Given the description of an element on the screen output the (x, y) to click on. 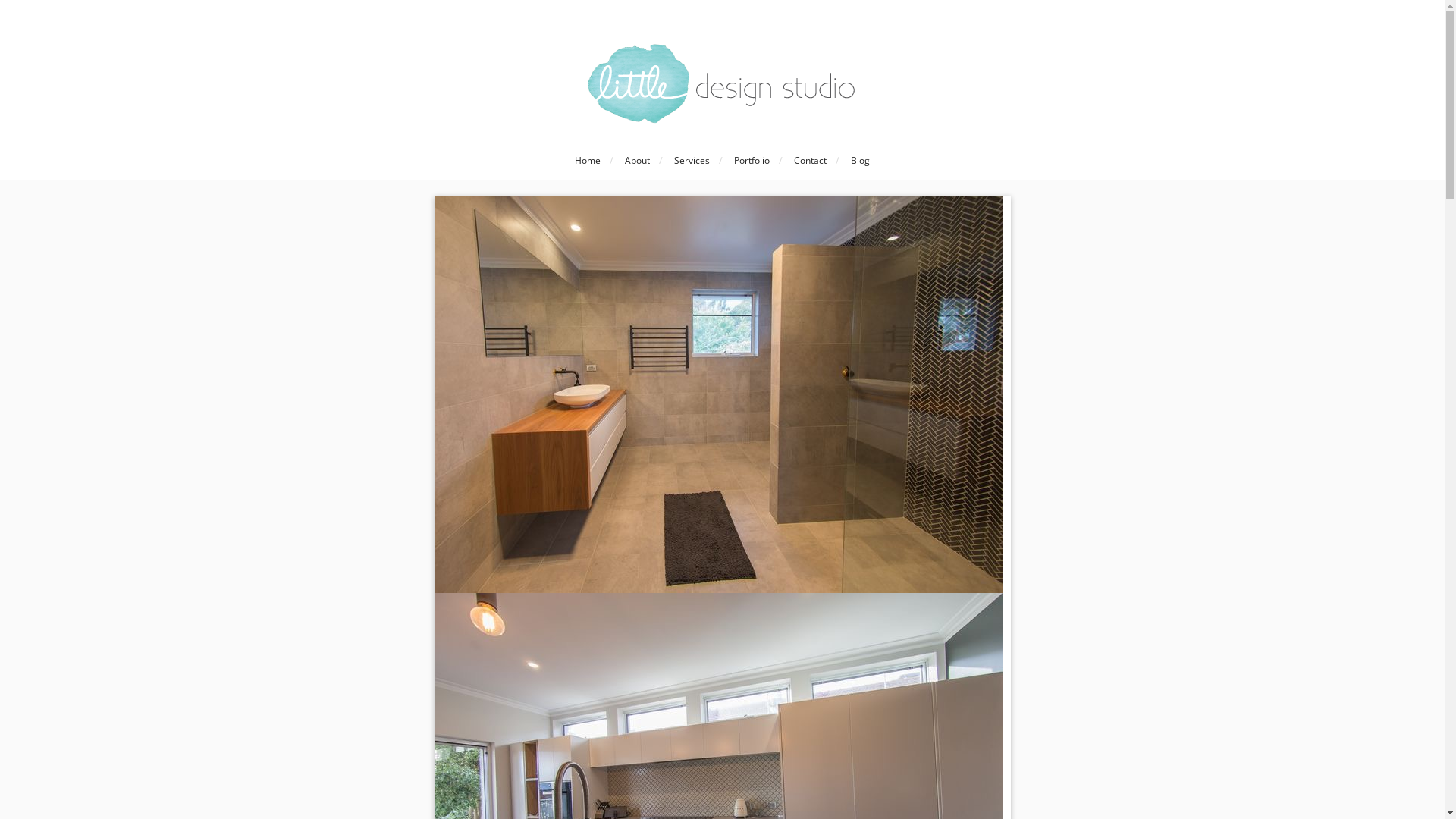
Services Element type: text (691, 160)
Portfolio Element type: text (751, 160)
Home Element type: text (587, 160)
Little Design Studio Element type: hover (721, 83)
Contact Element type: text (809, 160)
Blog Element type: text (859, 160)
About Element type: text (636, 160)
